Given the description of an element on the screen output the (x, y) to click on. 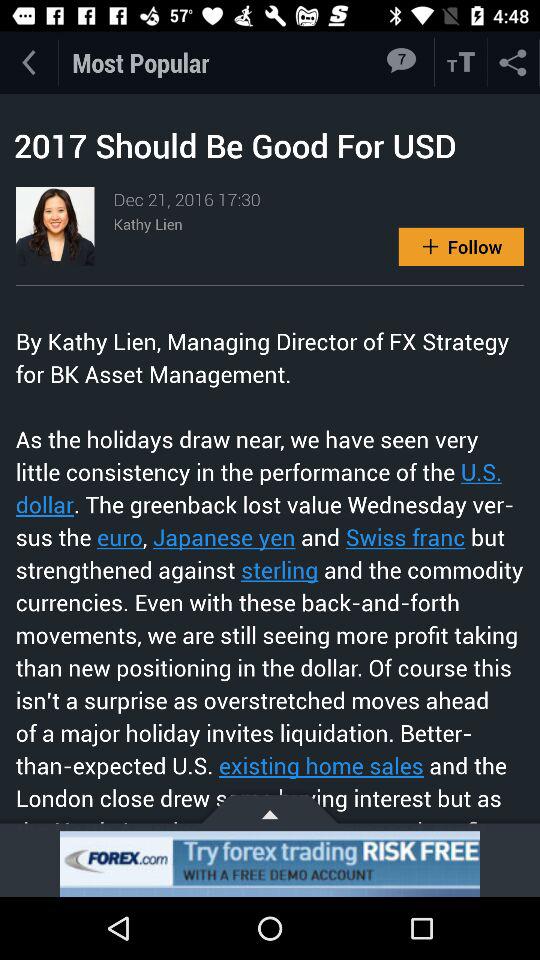
advertisement (270, 864)
